Given the description of an element on the screen output the (x, y) to click on. 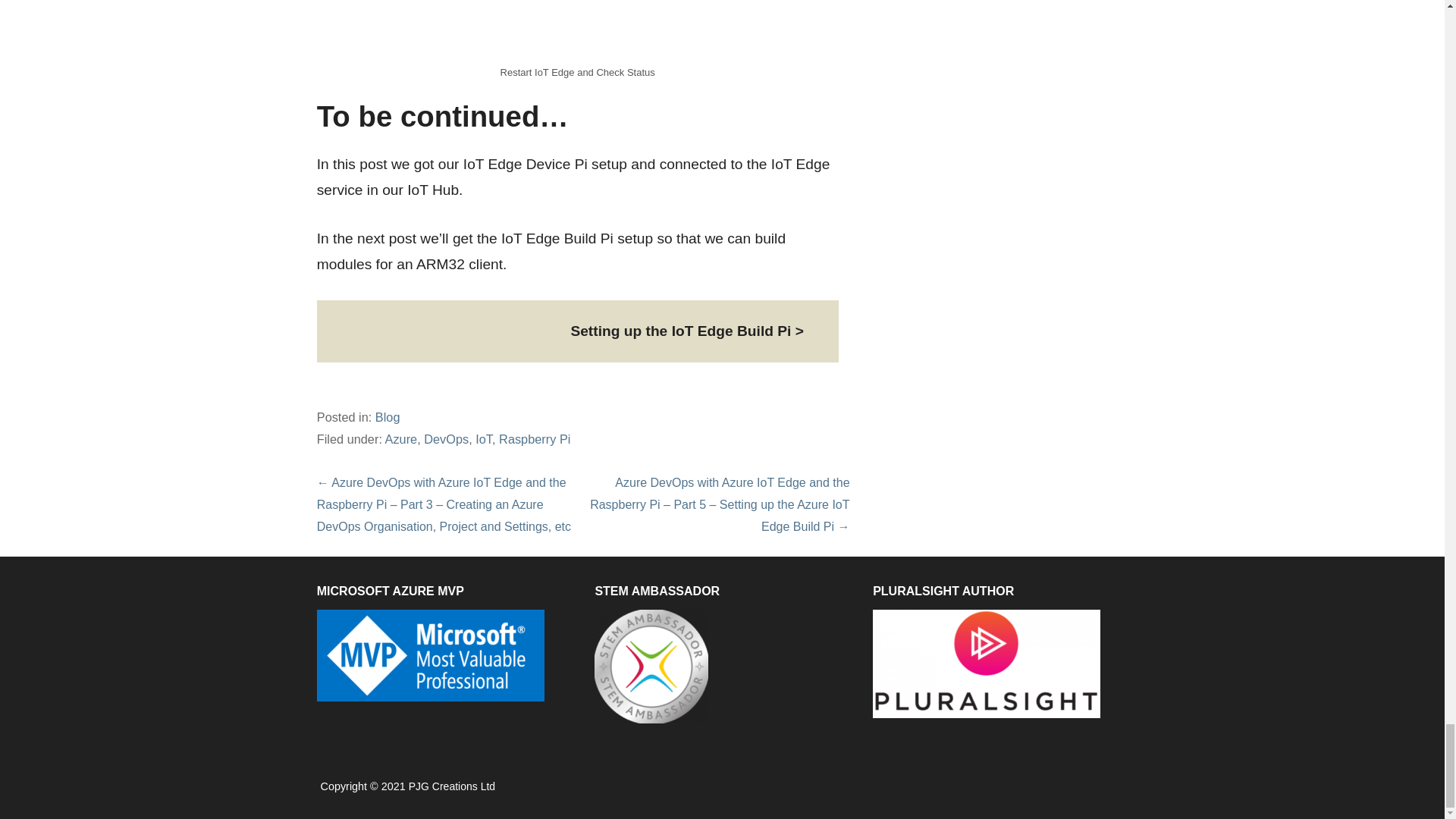
Azure (401, 438)
STEM Ambassador (650, 666)
DevOps (445, 438)
Blog (387, 417)
